Given the description of an element on the screen output the (x, y) to click on. 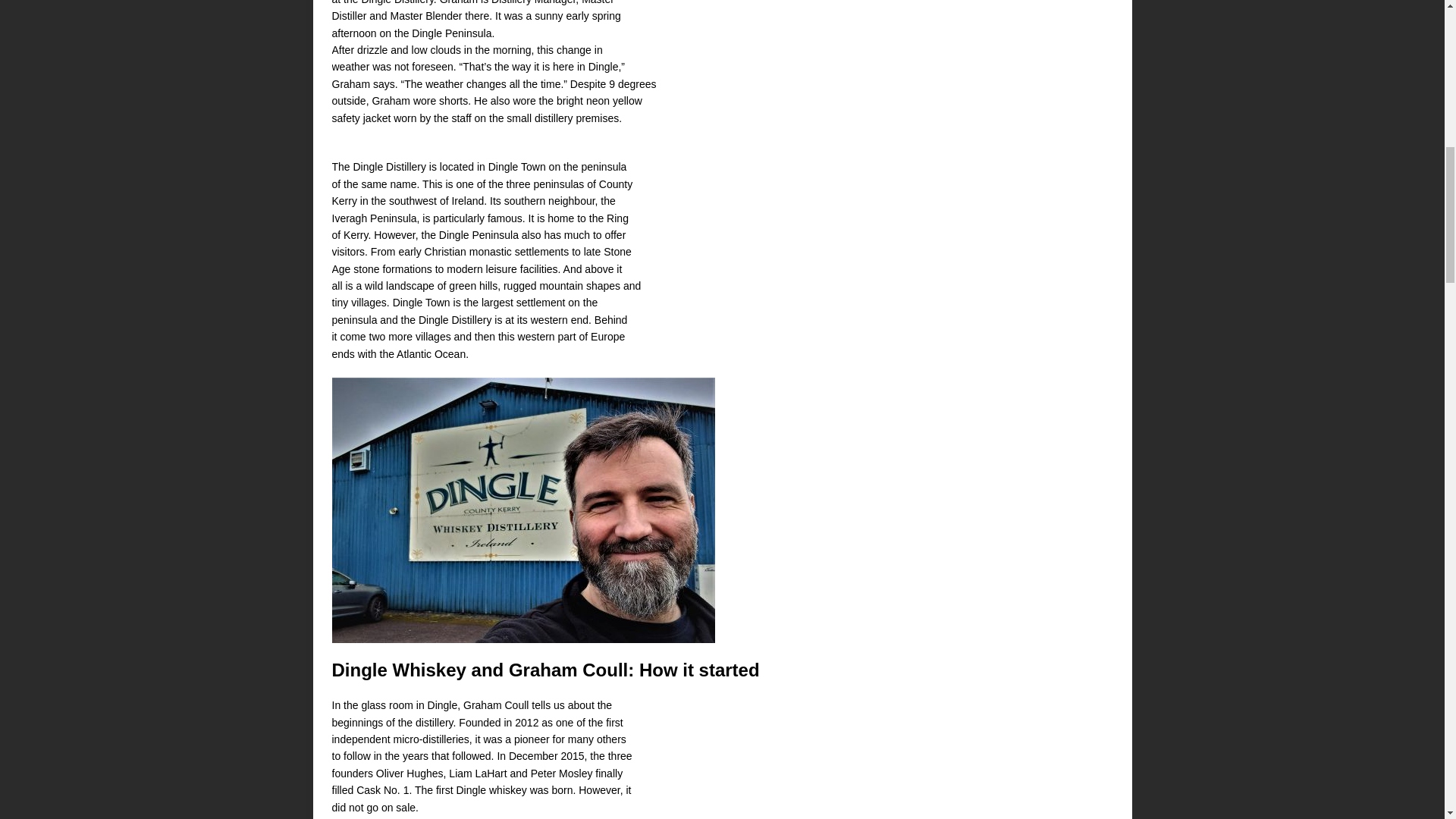
Spotify Embed: Irish Whiskey News Deutschland  (988, 31)
